Given the description of an element on the screen output the (x, y) to click on. 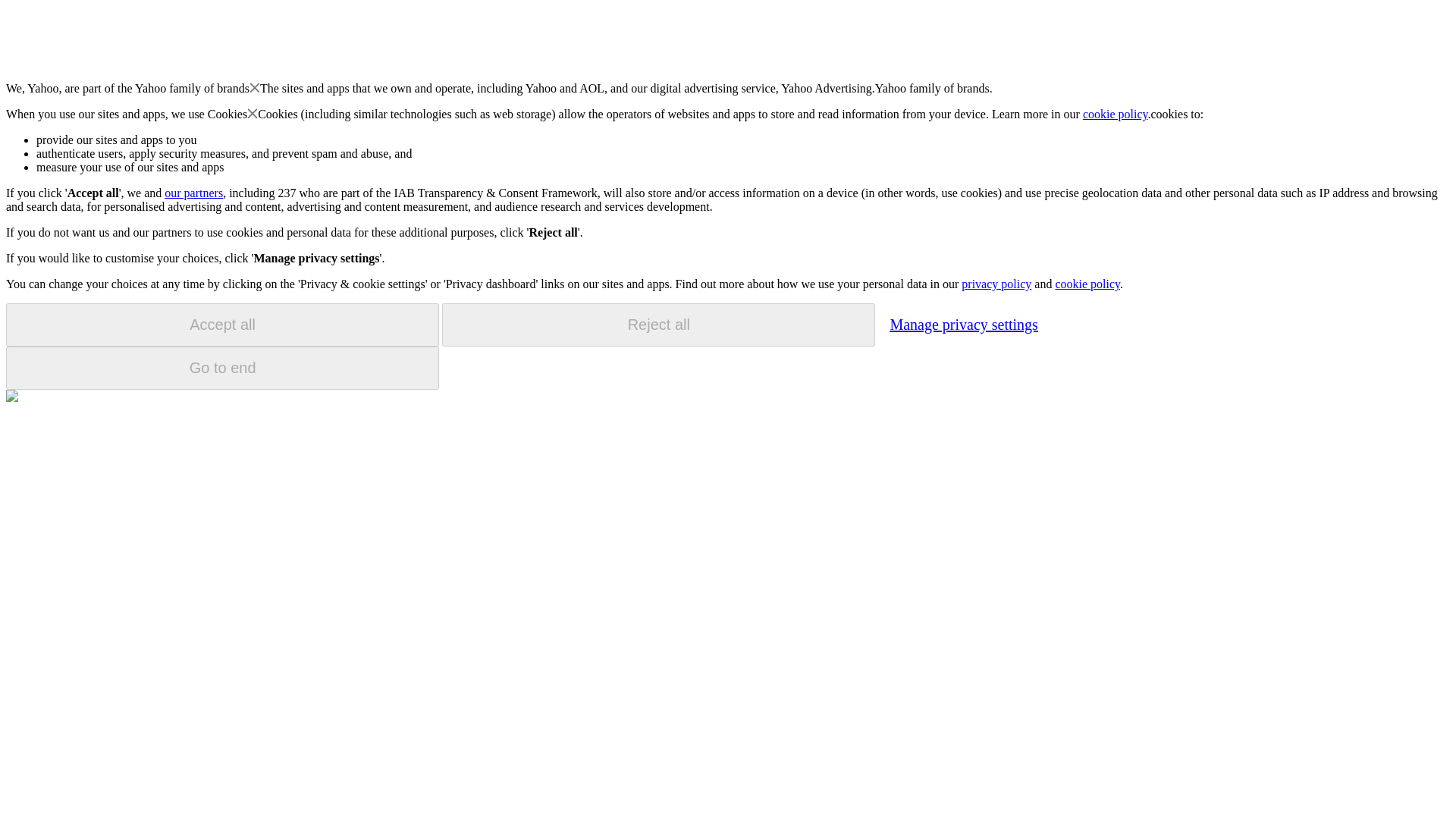
Manage privacy settings (963, 323)
Accept all (222, 324)
Go to end (222, 367)
privacy policy (995, 283)
cookie policy (1086, 283)
cookie policy (1115, 113)
Reject all (658, 324)
our partners (193, 192)
